Given the description of an element on the screen output the (x, y) to click on. 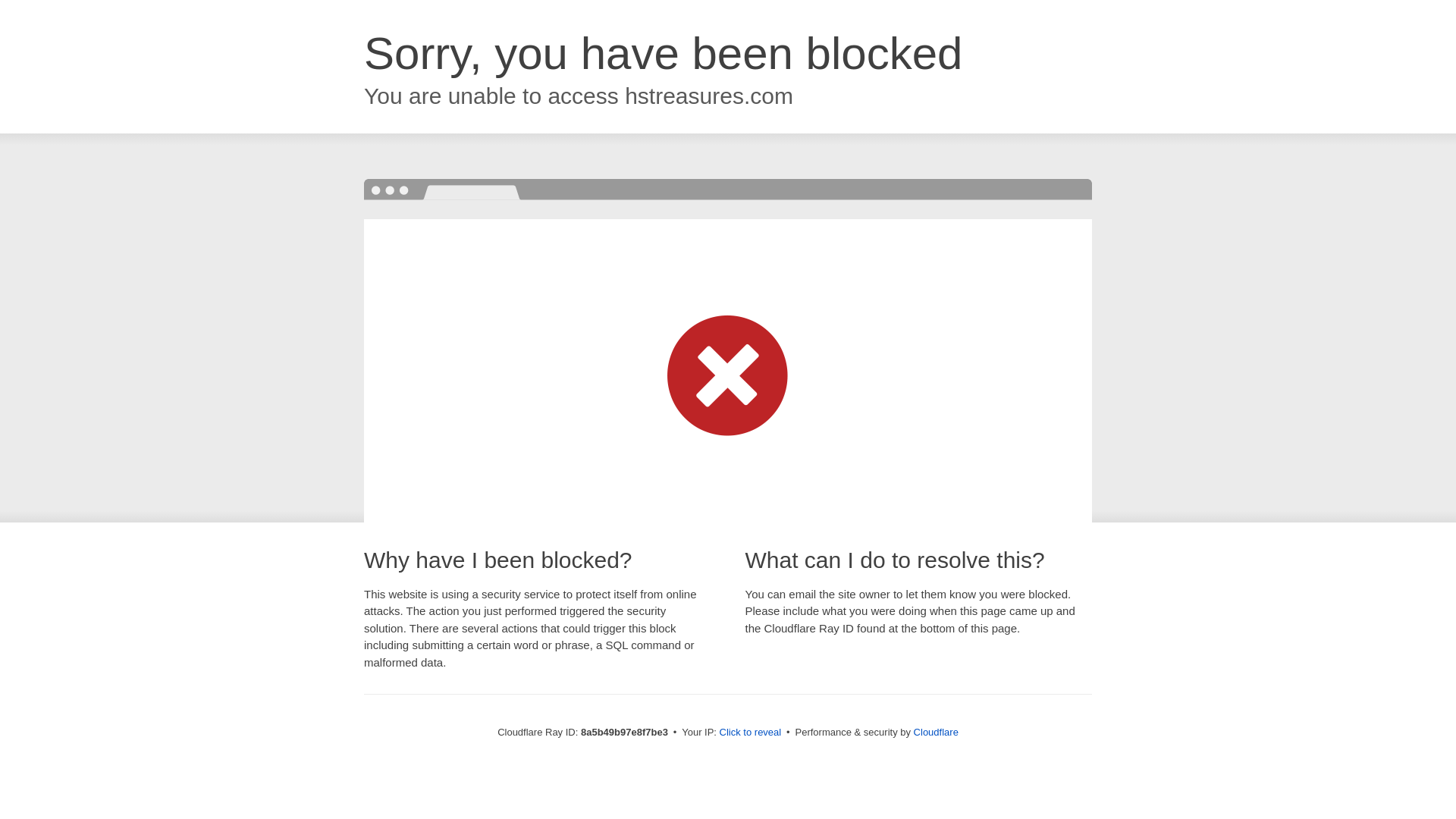
Click to reveal (750, 732)
Cloudflare (936, 731)
